Given the description of an element on the screen output the (x, y) to click on. 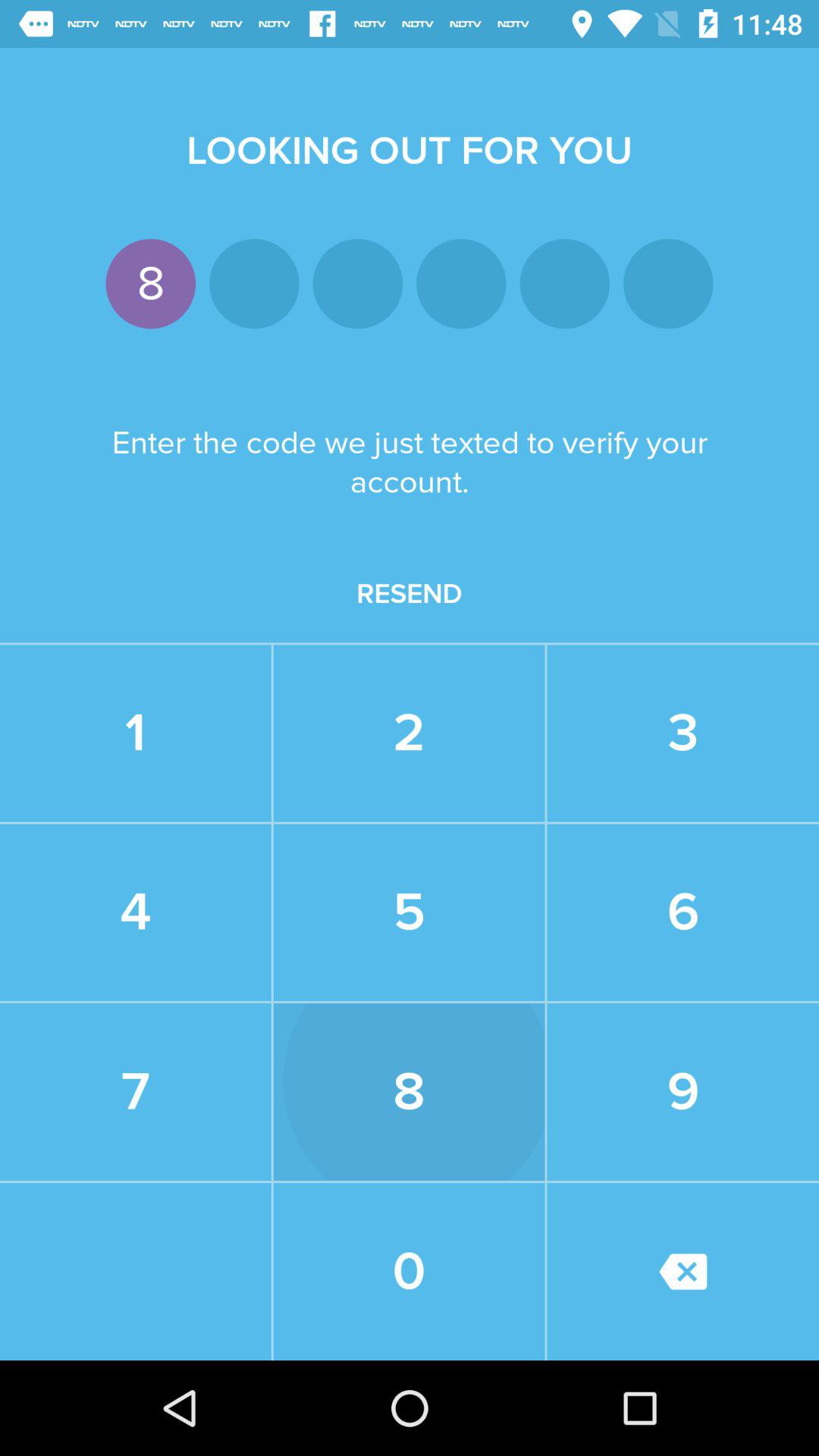
flip to 5 (408, 912)
